Given the description of an element on the screen output the (x, y) to click on. 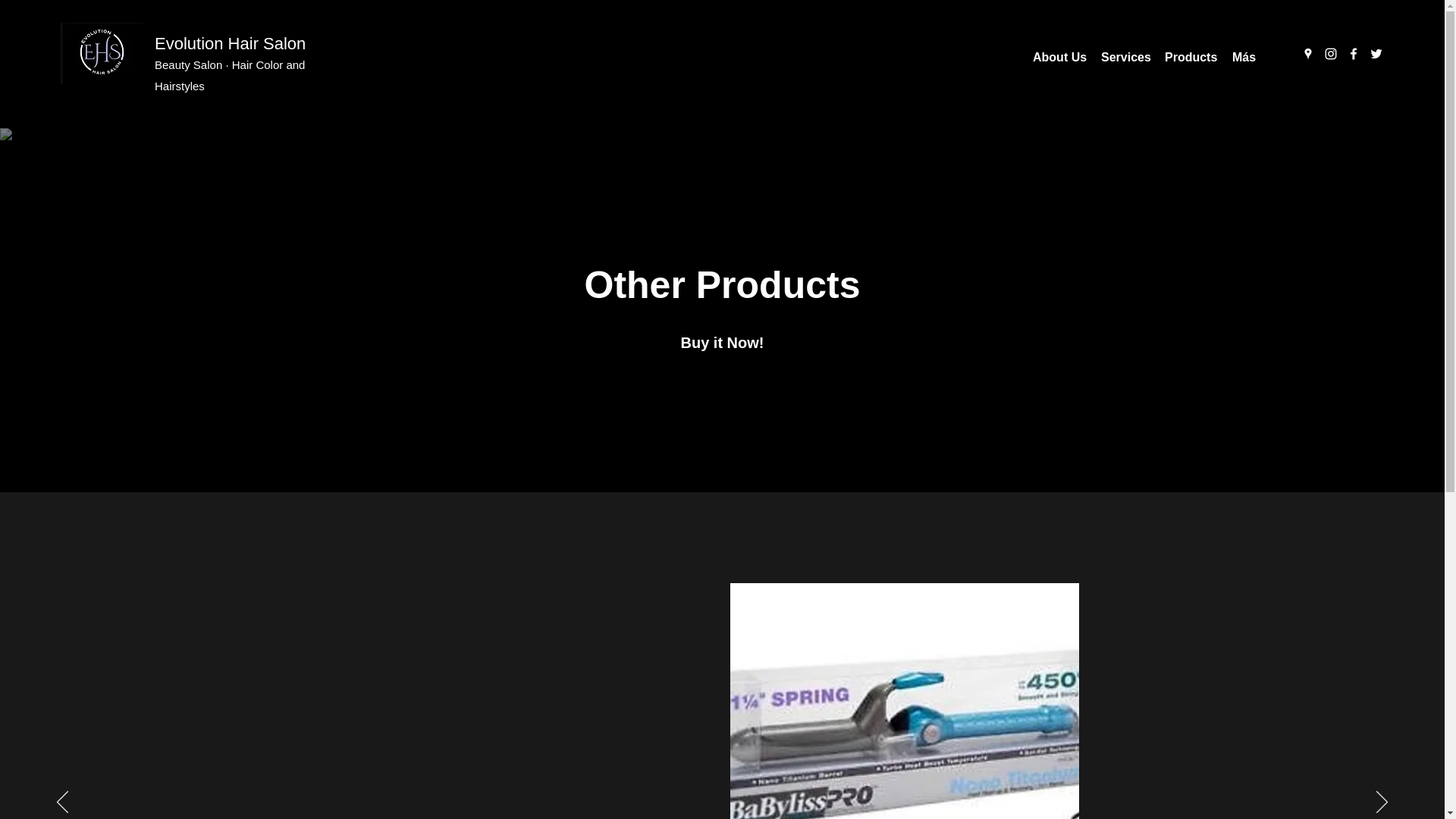
Services (1124, 56)
Evolution Hair Salon (229, 43)
About Us (1059, 56)
Products (1190, 56)
